Given the description of an element on the screen output the (x, y) to click on. 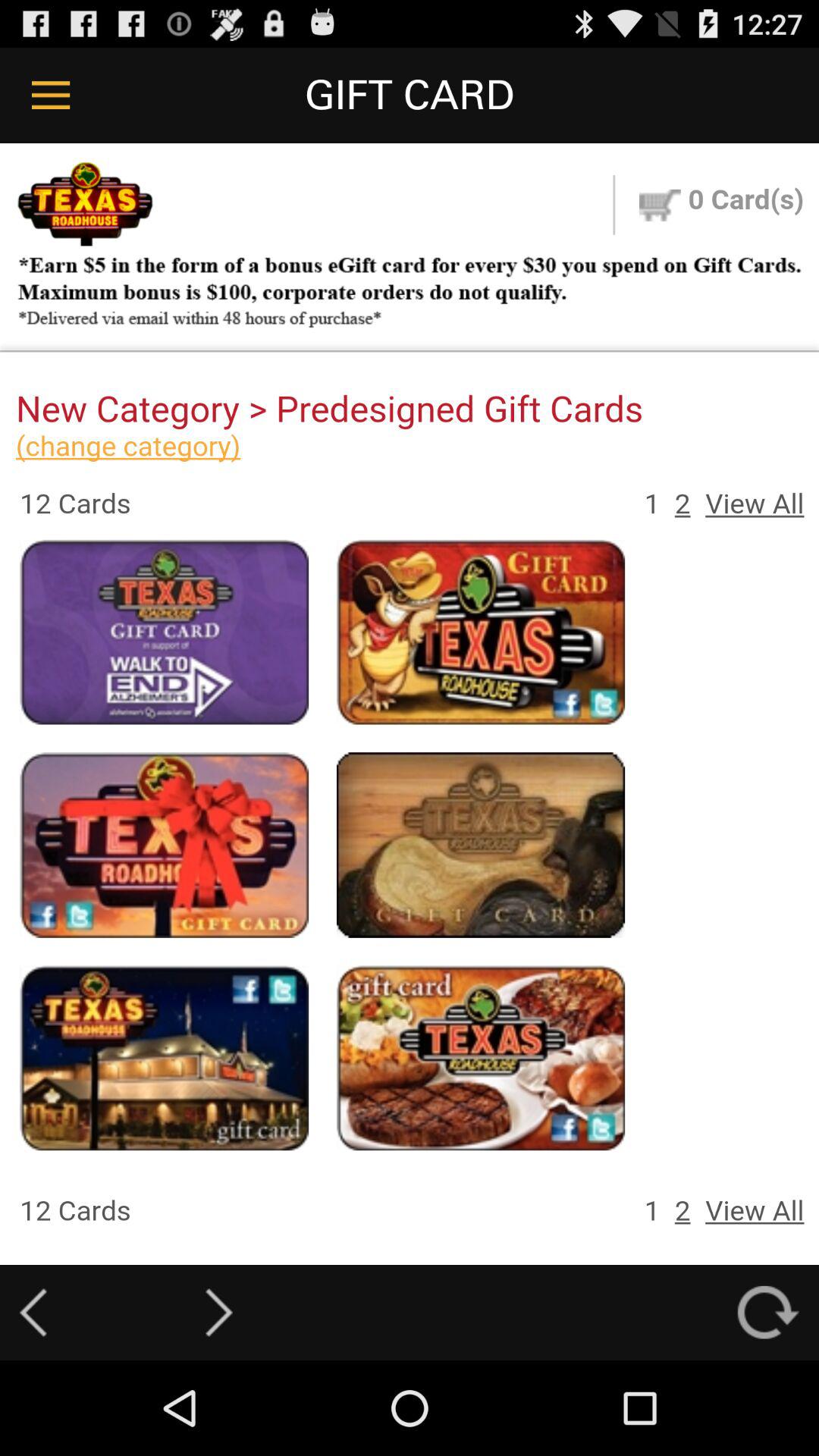
colour pinter (409, 703)
